Given the description of an element on the screen output the (x, y) to click on. 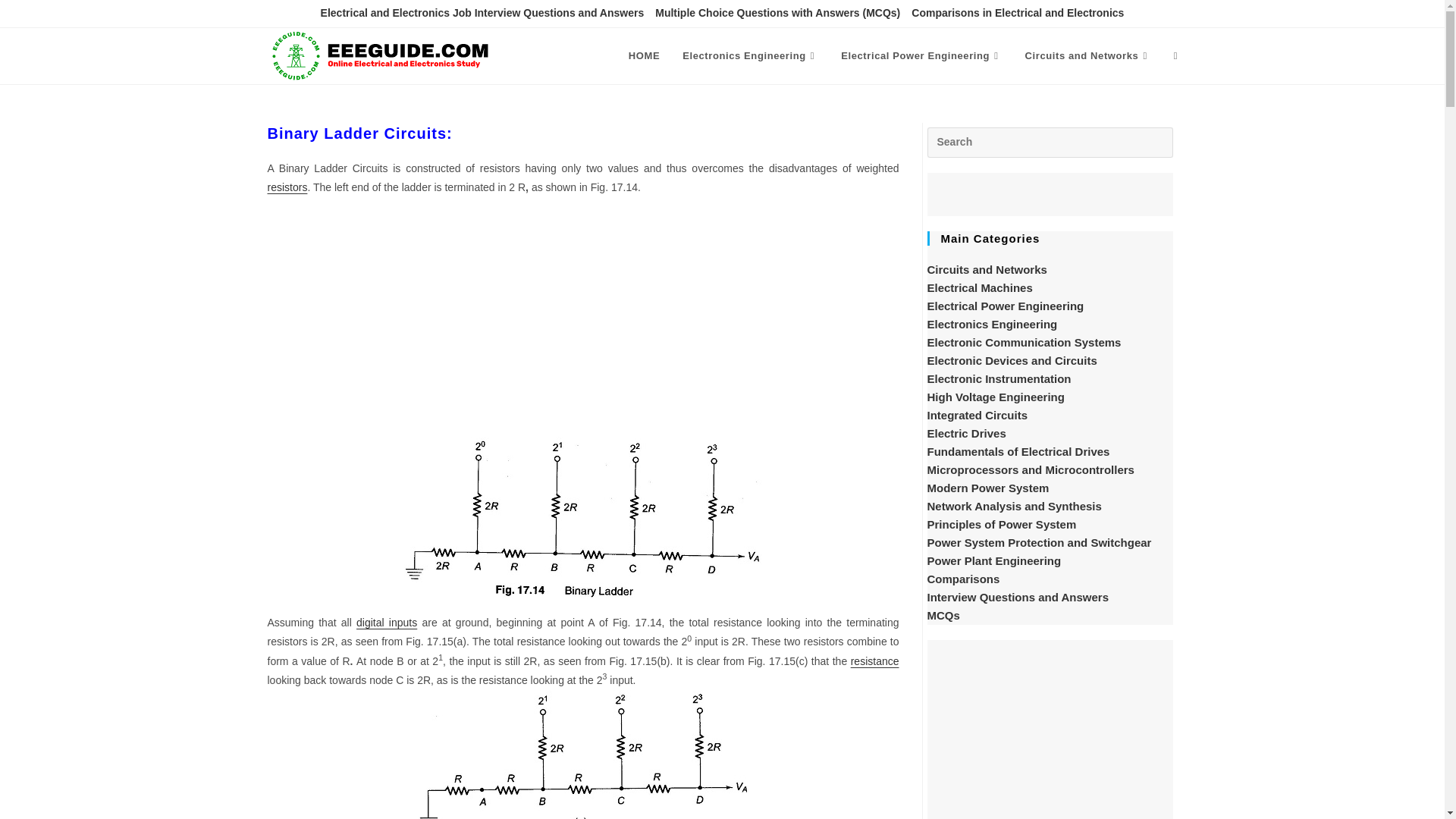
Electrical Power Engineering (921, 55)
Advertisement (582, 318)
HOME (644, 55)
Electronics Engineering (750, 55)
Circuits and Networks (1087, 55)
Comparisons in Electrical and Electronics (1017, 13)
